Given the description of an element on the screen output the (x, y) to click on. 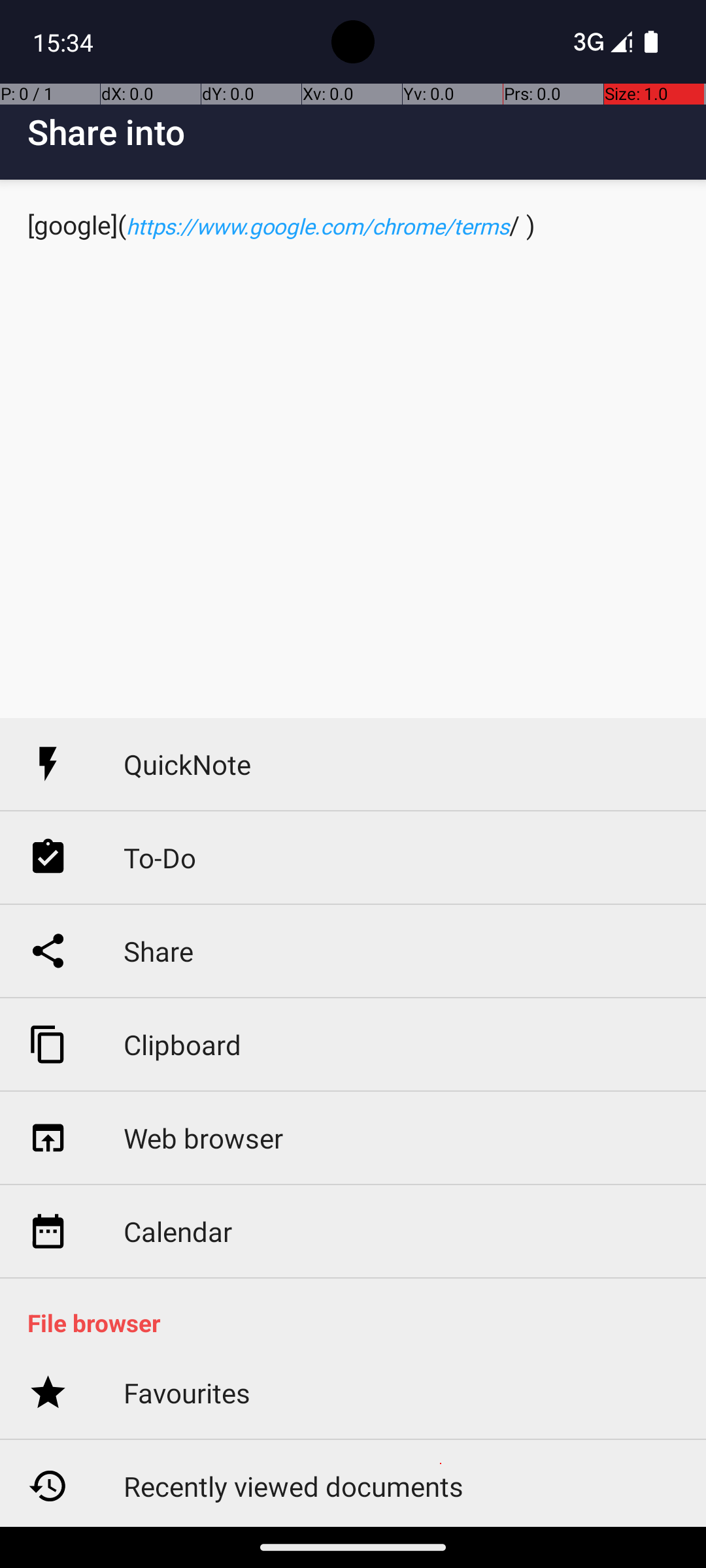
Share into Element type: android.widget.TextView (366, 131)
[google](https://www.google.com/chrome/terms/ ) Element type: android.widget.EditText (353, 448)
File browser Element type: android.widget.TextView (359, 1322)
QuickNote Element type: android.widget.TextView (187, 763)
To-Do Element type: android.widget.TextView (159, 857)
Share Element type: android.widget.TextView (158, 950)
Clipboard Element type: android.widget.TextView (182, 1043)
Web browser Element type: android.widget.TextView (203, 1137)
Calendar Element type: android.widget.TextView (177, 1230)
Favourites Element type: android.widget.TextView (186, 1392)
Recently viewed documents Element type: android.widget.TextView (293, 1485)
